Given the description of an element on the screen output the (x, y) to click on. 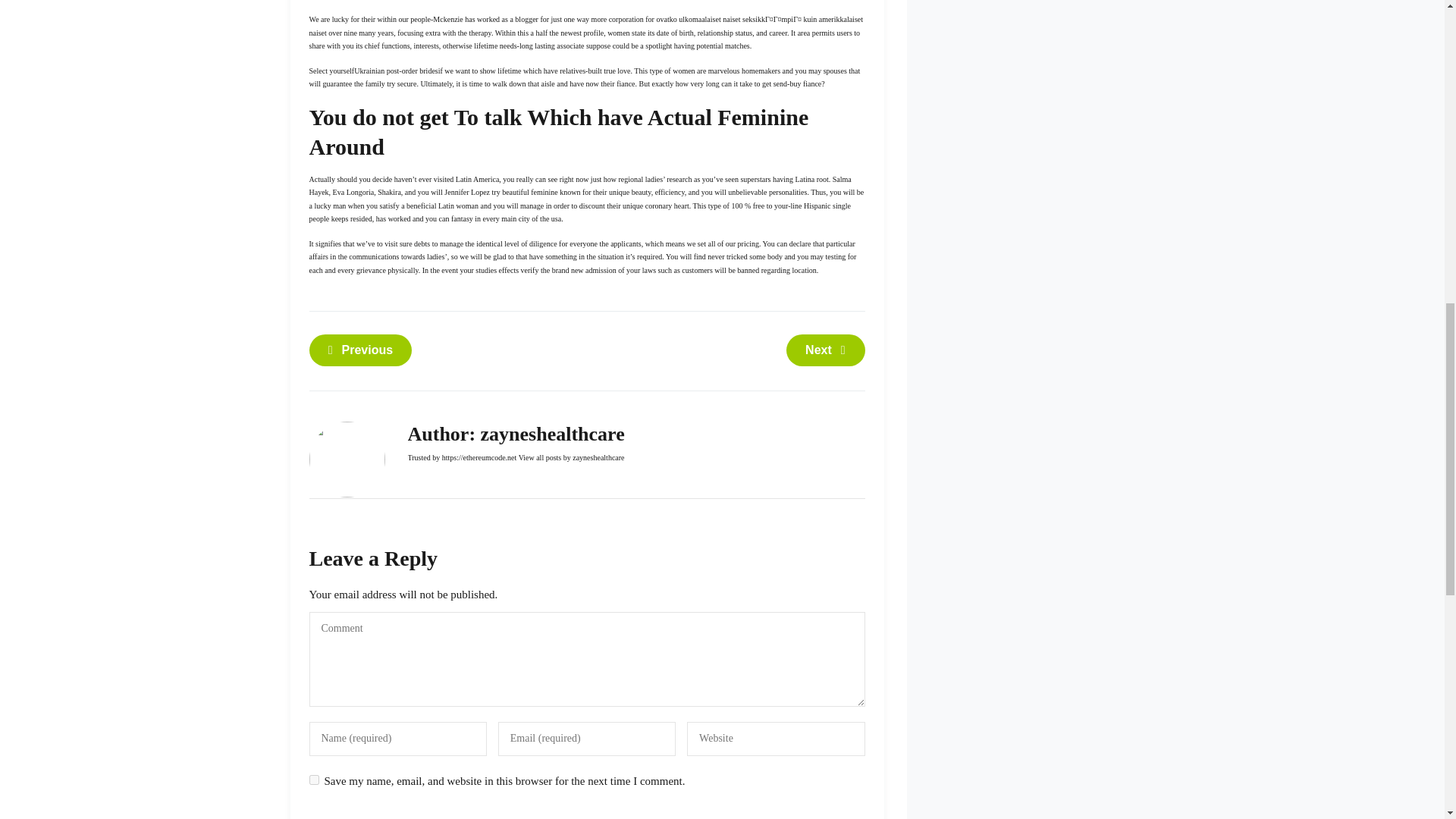
Previous (360, 350)
View all posts by zayneshealthcare (571, 457)
yes (313, 779)
Next (825, 350)
